Given the description of an element on the screen output the (x, y) to click on. 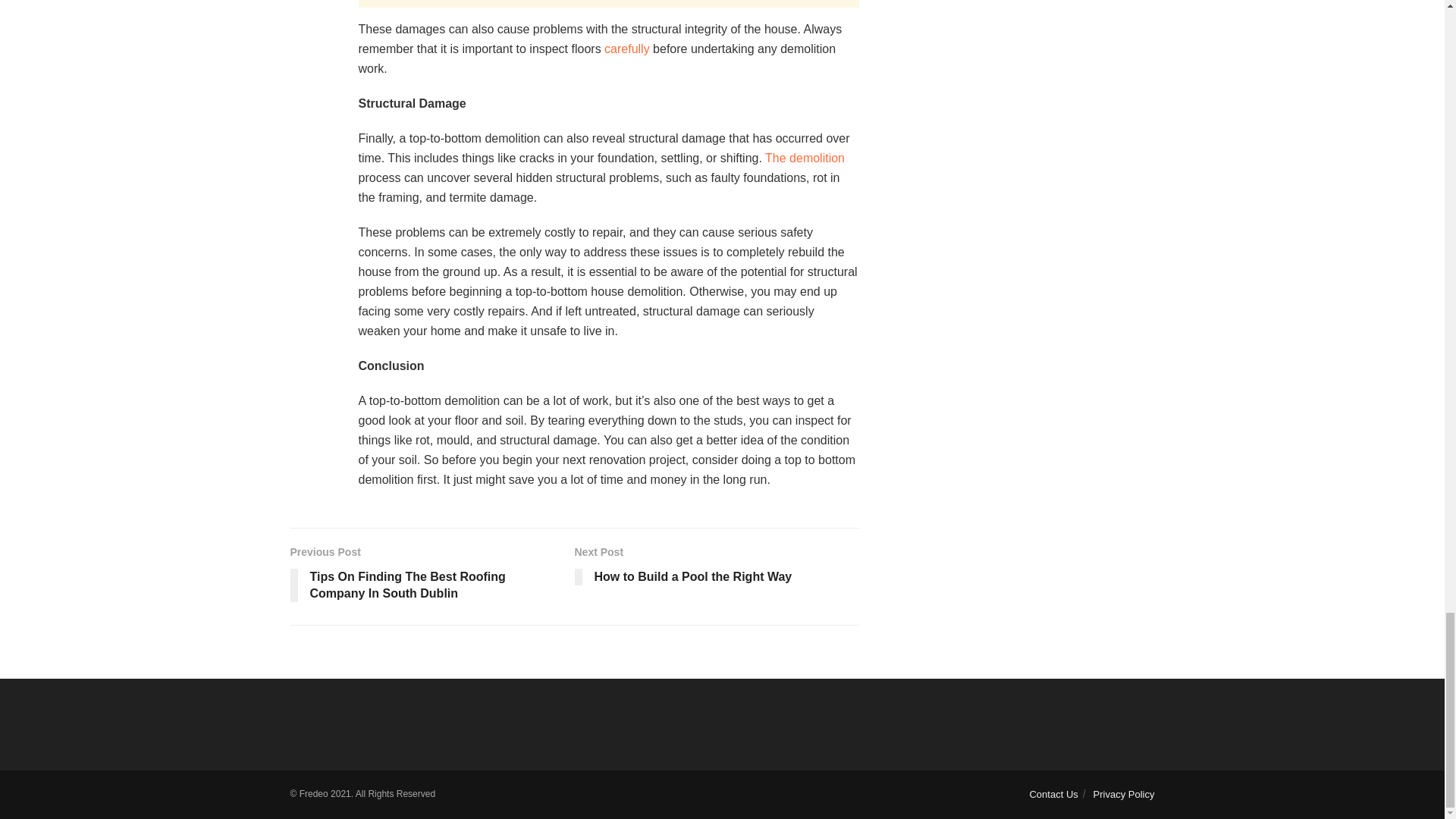
Advertisement (608, 3)
